Given the description of an element on the screen output the (x, y) to click on. 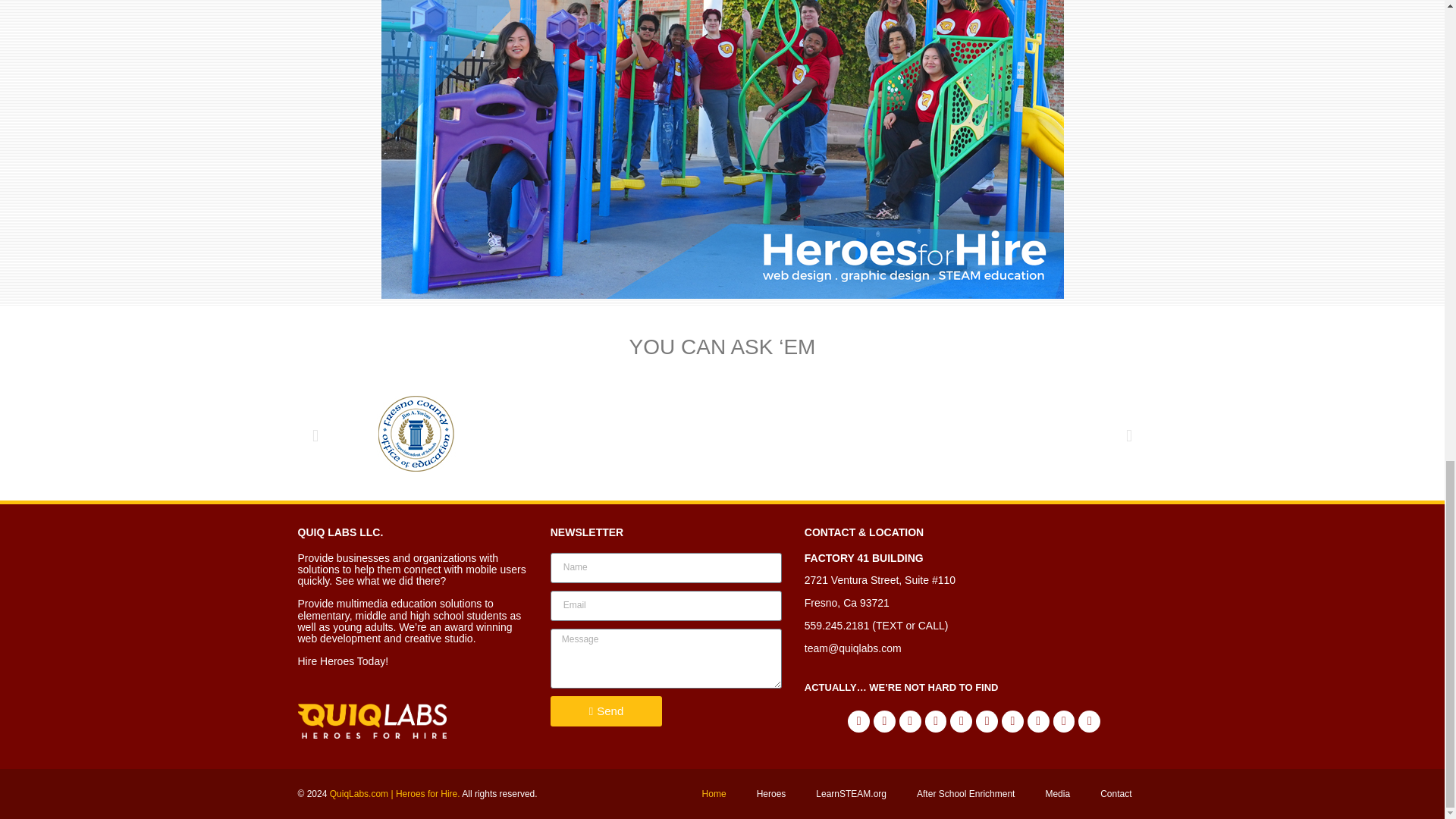
Heroes (771, 793)
Contact (1115, 793)
Home (714, 793)
After School Enrichment (965, 793)
Media (1056, 793)
LearnSTEAM.org (850, 793)
Send (606, 711)
